Given the description of an element on the screen output the (x, y) to click on. 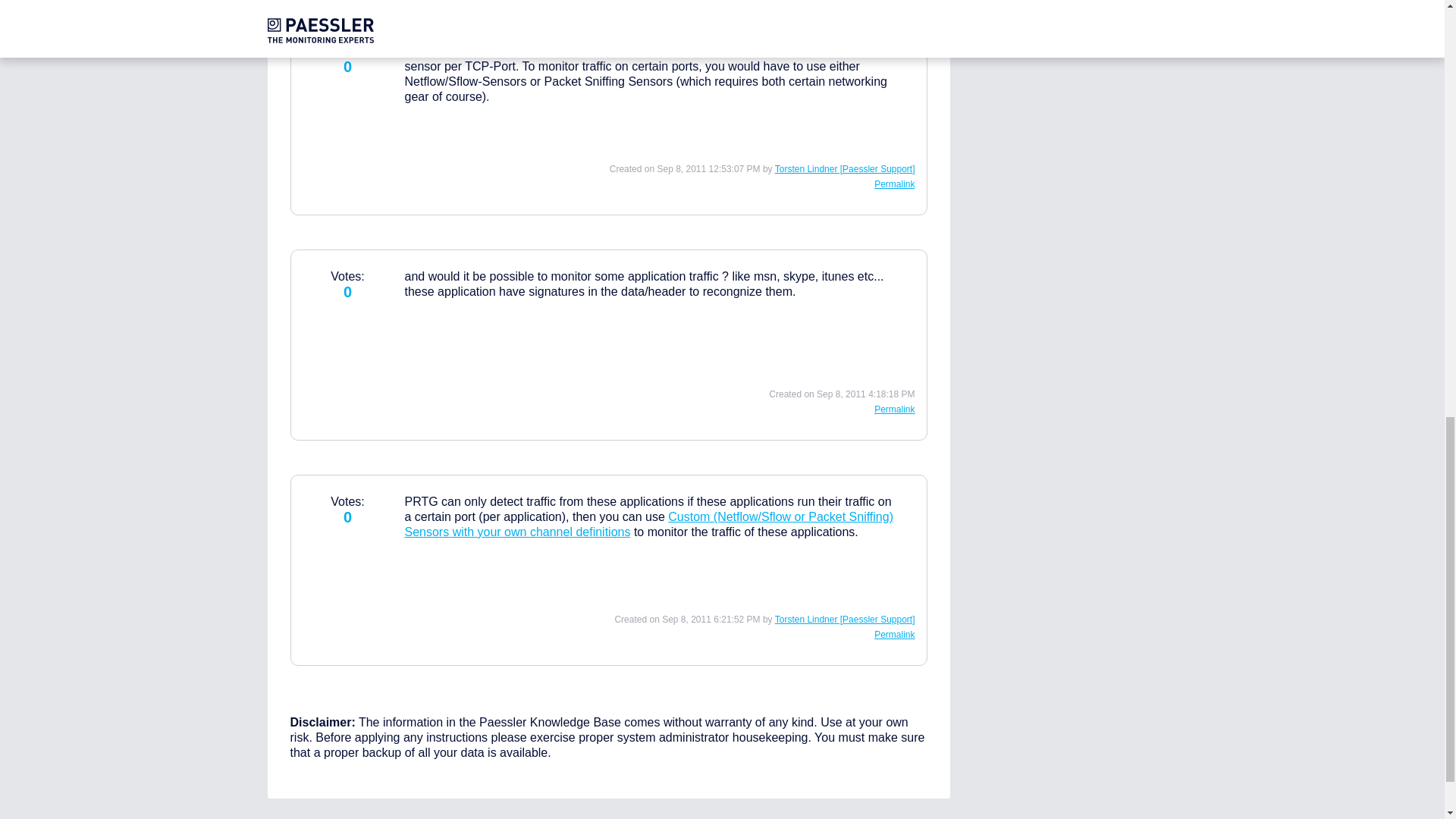
Profile of this user (844, 168)
Permalink (894, 184)
Permalink to this reply (894, 634)
Permalink to this reply (894, 409)
Permalink (894, 409)
Permalink to this reply (894, 184)
Permalink (894, 634)
Profile of this user (844, 619)
